Given the description of an element on the screen output the (x, y) to click on. 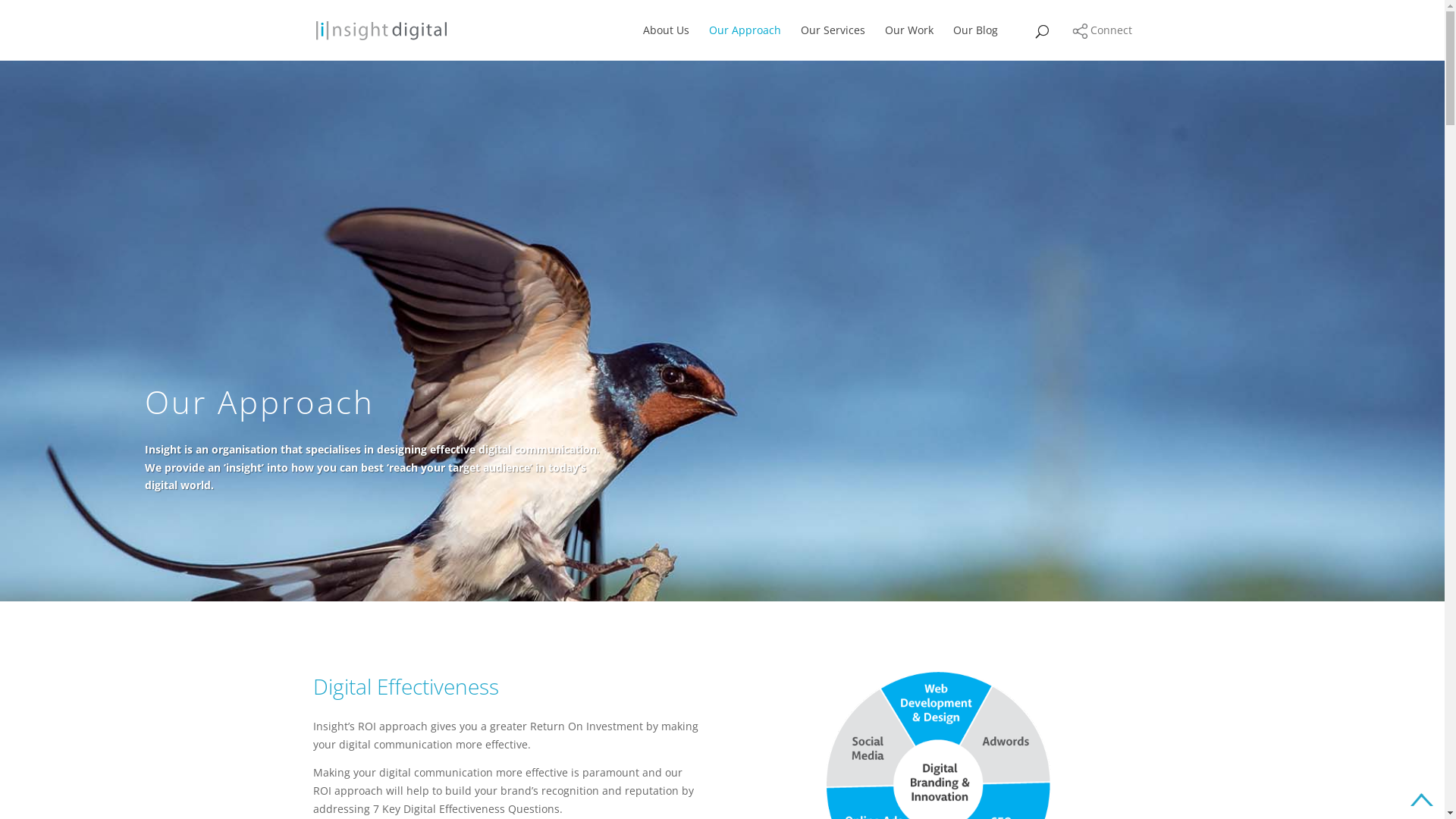
Our Approach Element type: text (744, 42)
Our Services Element type: text (832, 42)
About Us Element type: text (666, 42)
Our Work Element type: text (908, 42)
Go to top of page Element type: hover (1421, 799)
Our Blog Element type: text (974, 42)
Connect Element type: text (1102, 29)
